Given the description of an element on the screen output the (x, y) to click on. 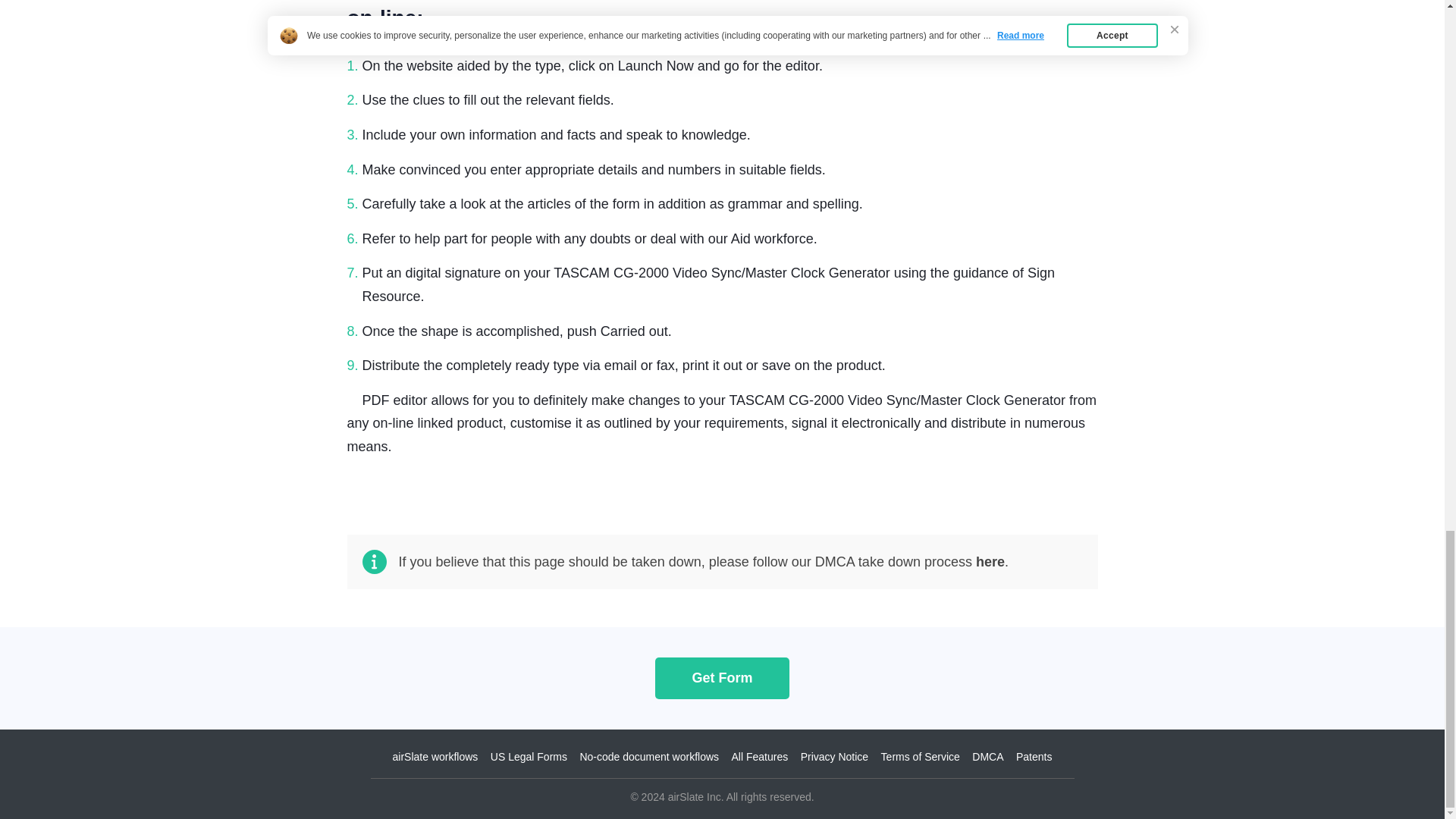
All Features (760, 756)
Get Form (722, 677)
Privacy Notice (833, 756)
Patents (1033, 756)
US Legal Forms (528, 756)
airSlate workflows (436, 756)
DMCA (987, 756)
here (989, 560)
Terms of Service (919, 756)
No-code document workflows (649, 756)
